Given the description of an element on the screen output the (x, y) to click on. 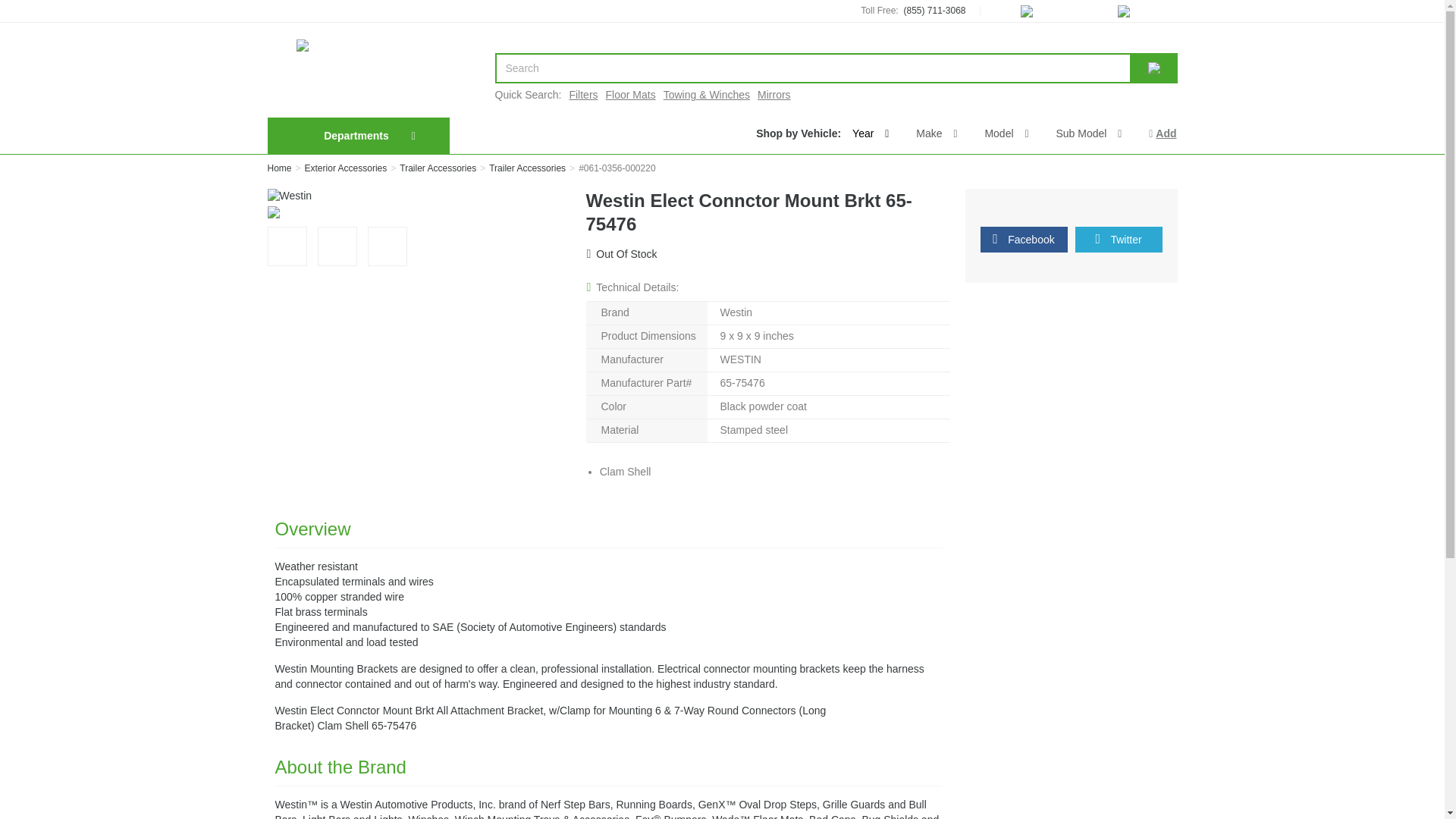
Westin (288, 196)
Floor Mats (630, 94)
Mirrors (773, 94)
Departments (355, 135)
Filters (582, 94)
